Given the description of an element on the screen output the (x, y) to click on. 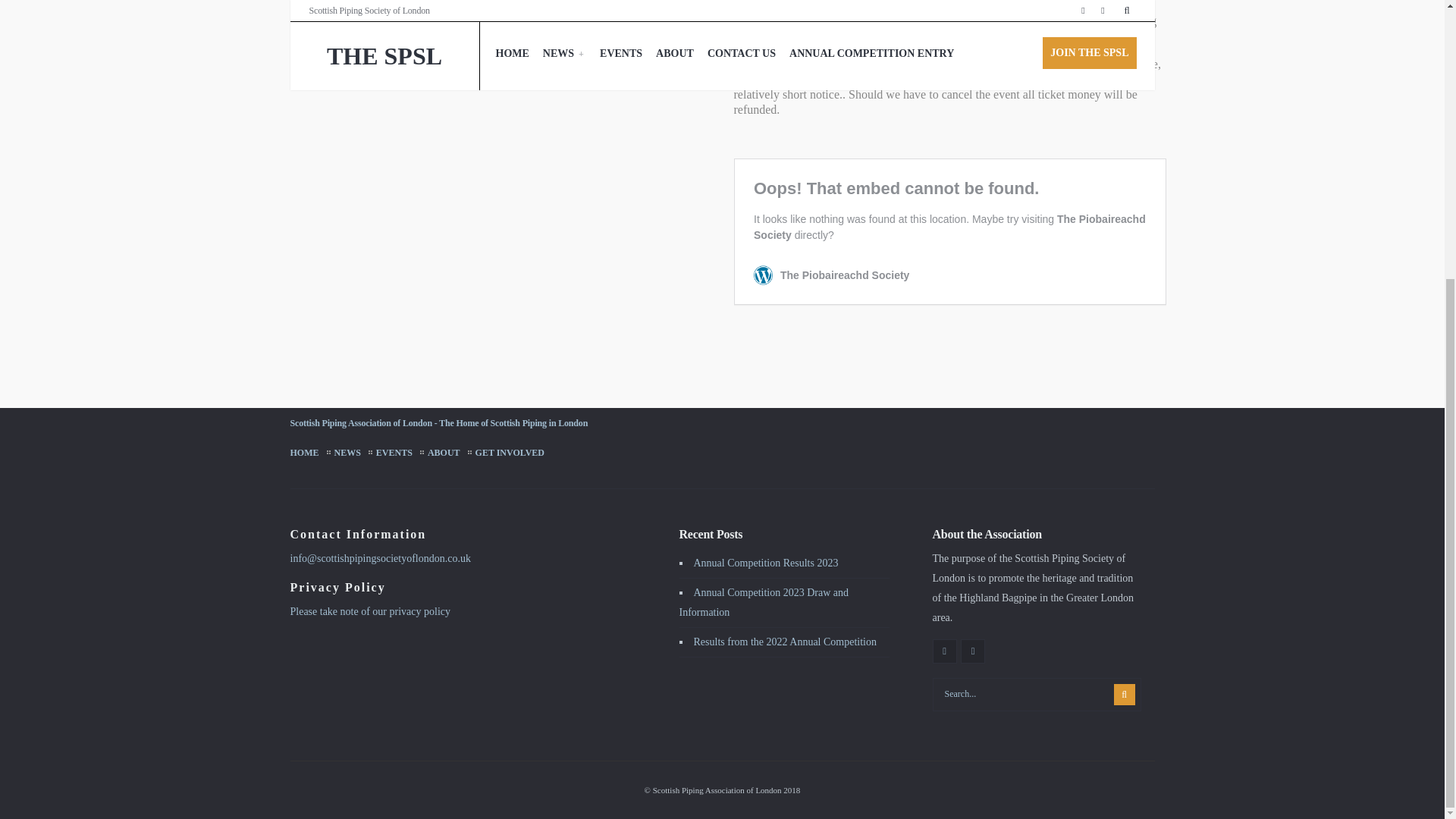
Annual Competition 2023 Draw and Information (763, 602)
HOME (304, 452)
NEWS (347, 452)
Twitter (972, 651)
ABOUT (443, 452)
Facebook (944, 651)
GET INVOLVED (509, 452)
Annual Competition Results 2023 (765, 562)
Results from the 2022 Annual Competition (784, 641)
Search... (1037, 694)
Please take note of our privacy policy (369, 611)
EVENTS (394, 452)
